Given the description of an element on the screen output the (x, y) to click on. 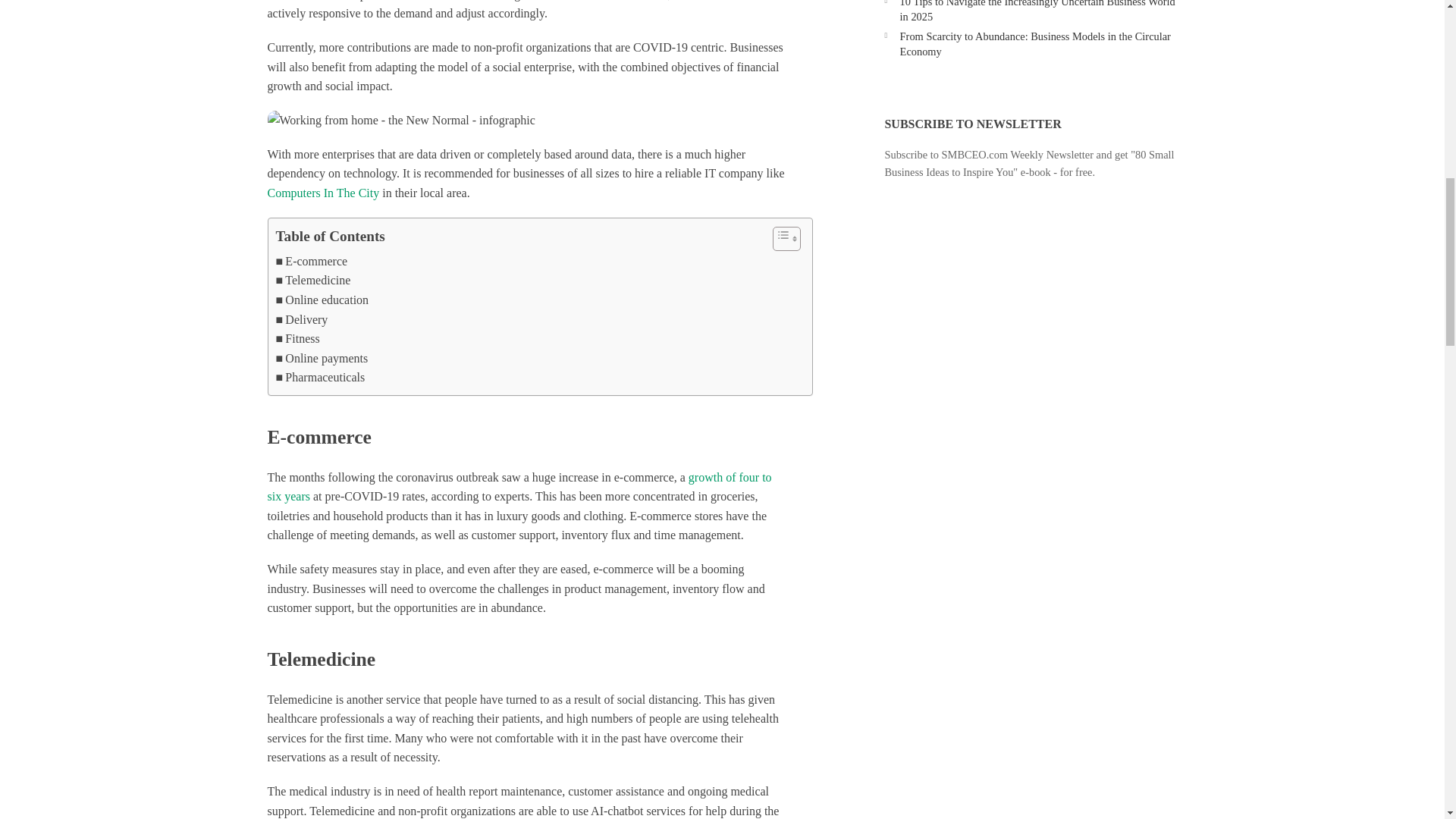
E-commerce (311, 261)
Telemedicine (313, 280)
Computers In The City (322, 192)
Delivery (302, 320)
Fitness (298, 338)
Delivery (302, 320)
Online payments (322, 358)
Fitness (298, 338)
Online education (322, 300)
Pharmaceuticals (320, 377)
